Given the description of an element on the screen output the (x, y) to click on. 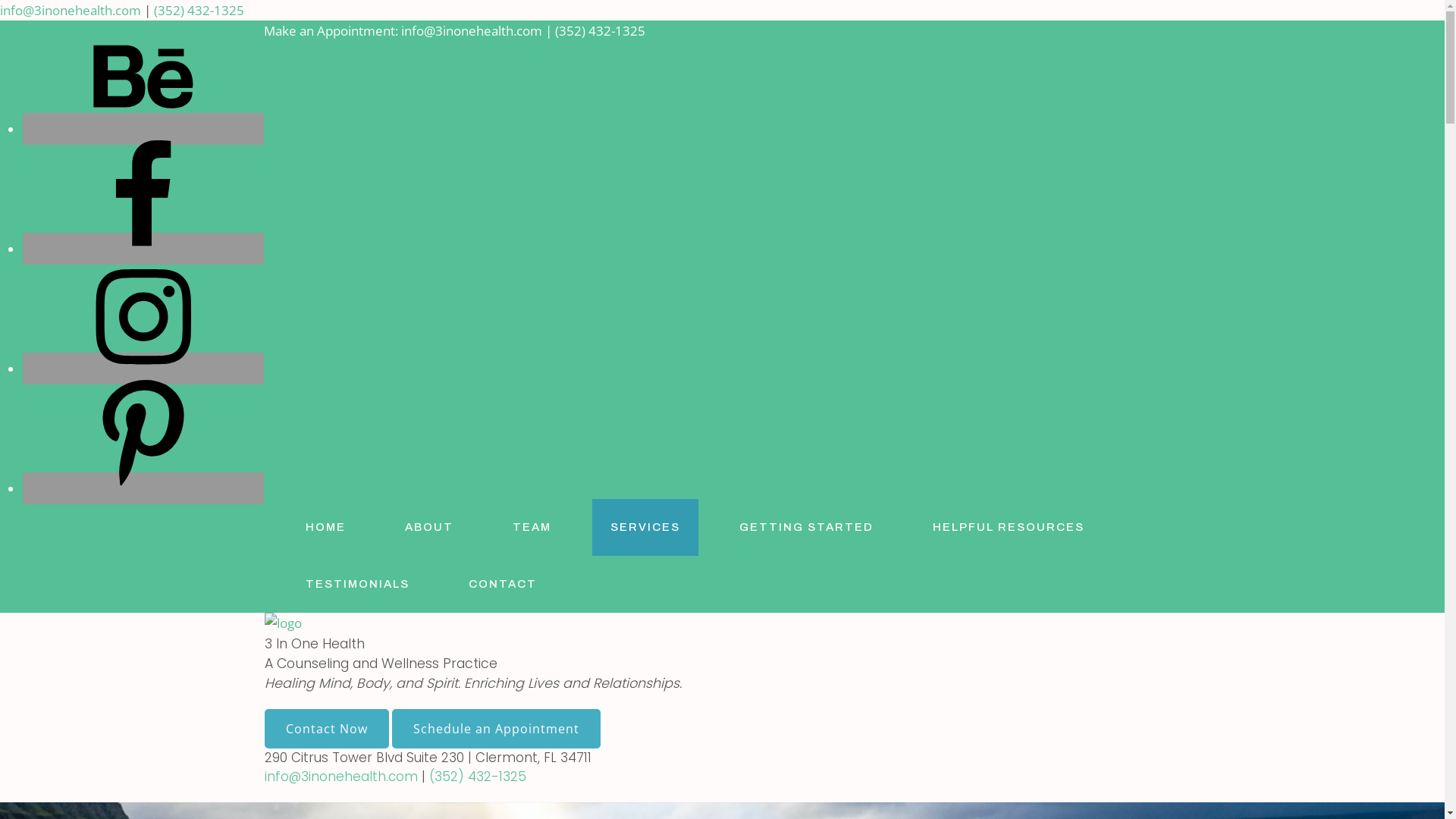
Behance Element type: text (142, 128)
ABOUT Element type: text (428, 526)
TEAM Element type: text (531, 526)
GETTING STARTED Element type: text (805, 526)
Instagram Element type: text (142, 368)
info@3inonehealth.com Element type: text (72, 9)
HOME Element type: text (324, 526)
Contact Now Element type: text (325, 728)
Facebook Element type: text (142, 248)
Schedule an Appointment Element type: text (495, 728)
CONTACT Element type: text (502, 583)
Pinterest Element type: text (142, 488)
(352) 432-1325 Element type: text (198, 9)
TESTIMONIALS Element type: text (356, 583)
(352) 432-1325 Element type: text (600, 30)
info@3inonehealth.com Element type: text (340, 776)
SERVICES Element type: text (644, 526)
(352) 432-1325 Element type: text (477, 776)
HELPFUL RESOURCES Element type: text (1008, 526)
info@3inonehealth.com Element type: text (473, 30)
